Given the description of an element on the screen output the (x, y) to click on. 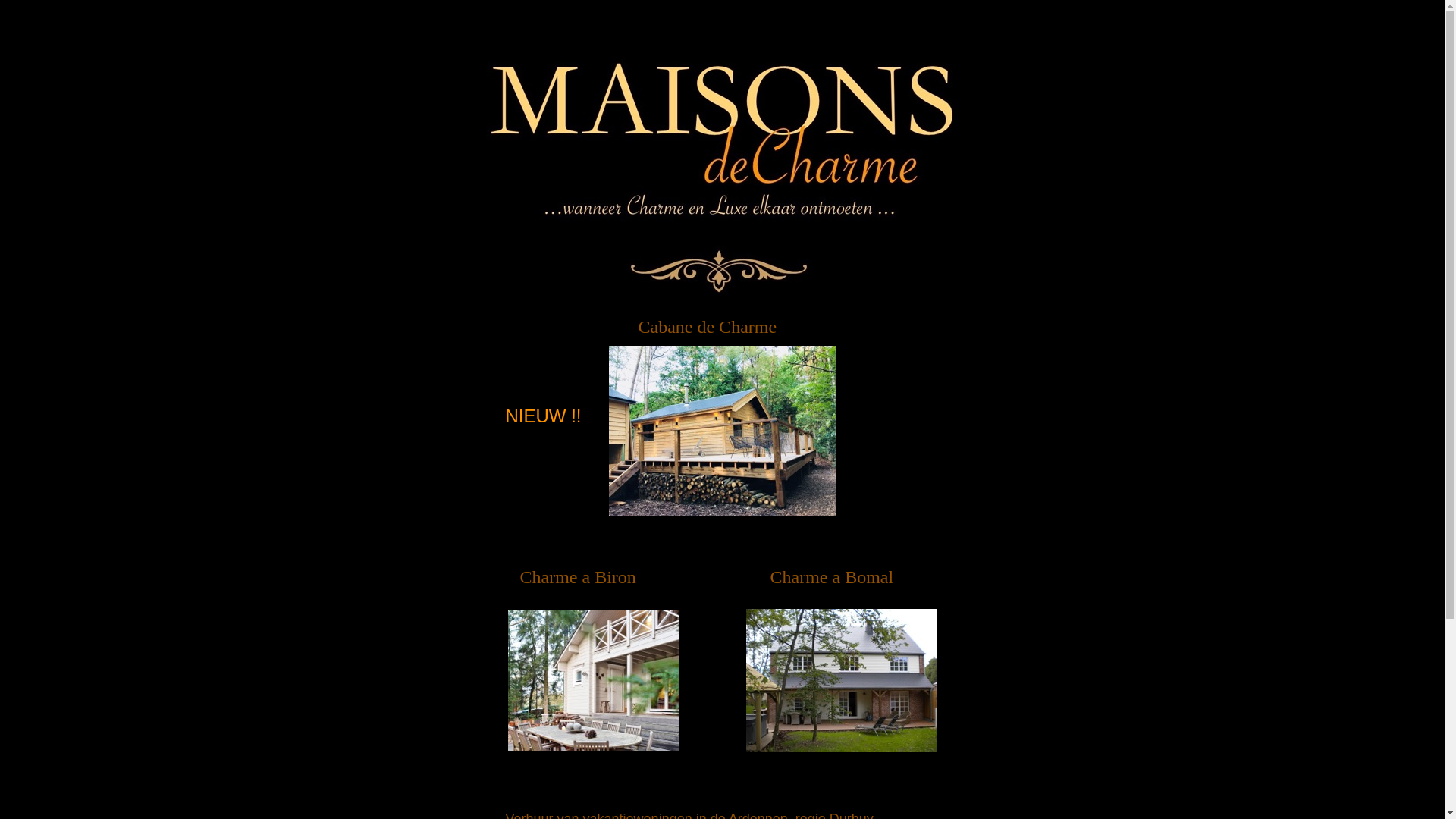
http://www.maisons-de-charme.be Element type: hover (593, 749)
http://www.maisons-de-charme.be Element type: hover (721, 515)
tarief Element type: text (662, 18)
Links Element type: text (966, 18)
http://www.maisons-de-charme.be Element type: hover (841, 751)
pers Element type: text (764, 18)
Foto's Element type: text (547, 18)
beschikbaarheidskalender Element type: text (865, 18)
Last Minutes  !!! Element type: text (748, 40)
inrichting Element type: text (606, 18)
contact Element type: text (714, 18)
ligging Element type: text (671, 40)
Welkom Element type: text (489, 18)
